Given the description of an element on the screen output the (x, y) to click on. 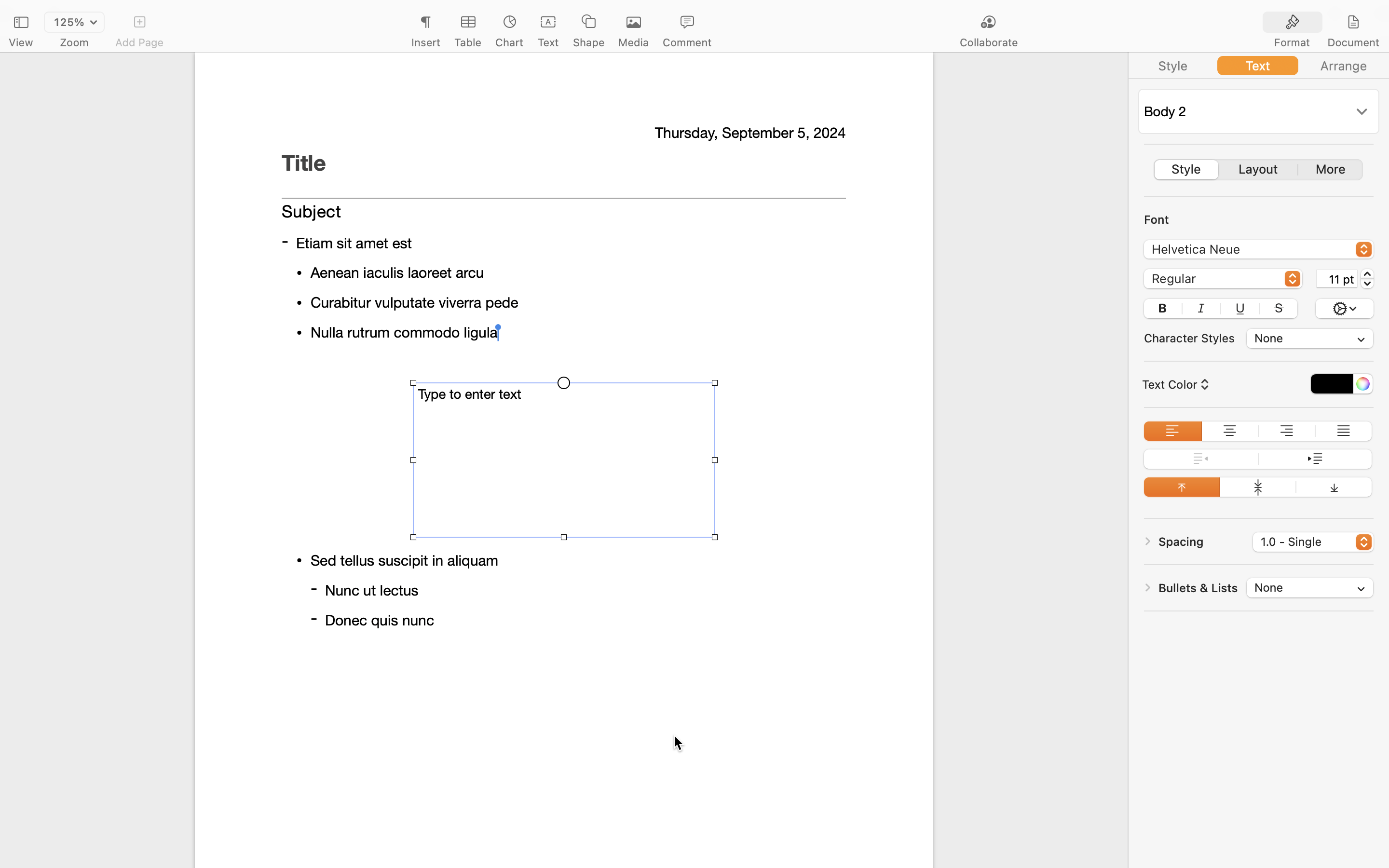
Learn More Element type: AXStaticText (562, 309)
Font Element type: AXStaticText (1156, 219)
<AXUIElement 0x10de229e0> {pid=1482} Element type: AXRadioGroup (1258, 169)
